Given the description of an element on the screen output the (x, y) to click on. 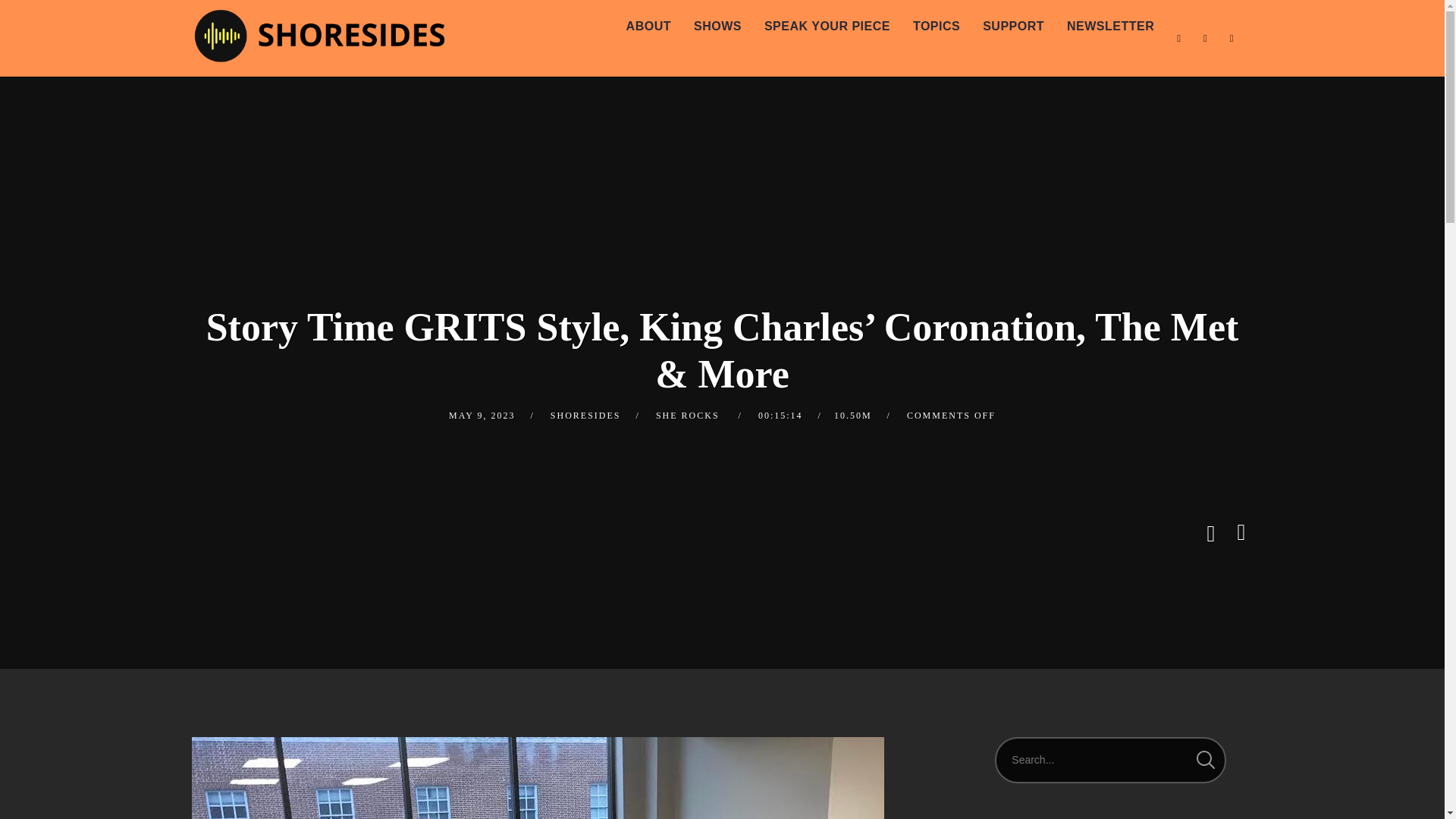
Shoresides (318, 32)
SHOWS (717, 26)
SUPPORT (1013, 26)
NEWSLETTER (1110, 26)
ABOUT (648, 26)
SPEAK YOUR PIECE (826, 26)
TOPICS (936, 26)
